Given the description of an element on the screen output the (x, y) to click on. 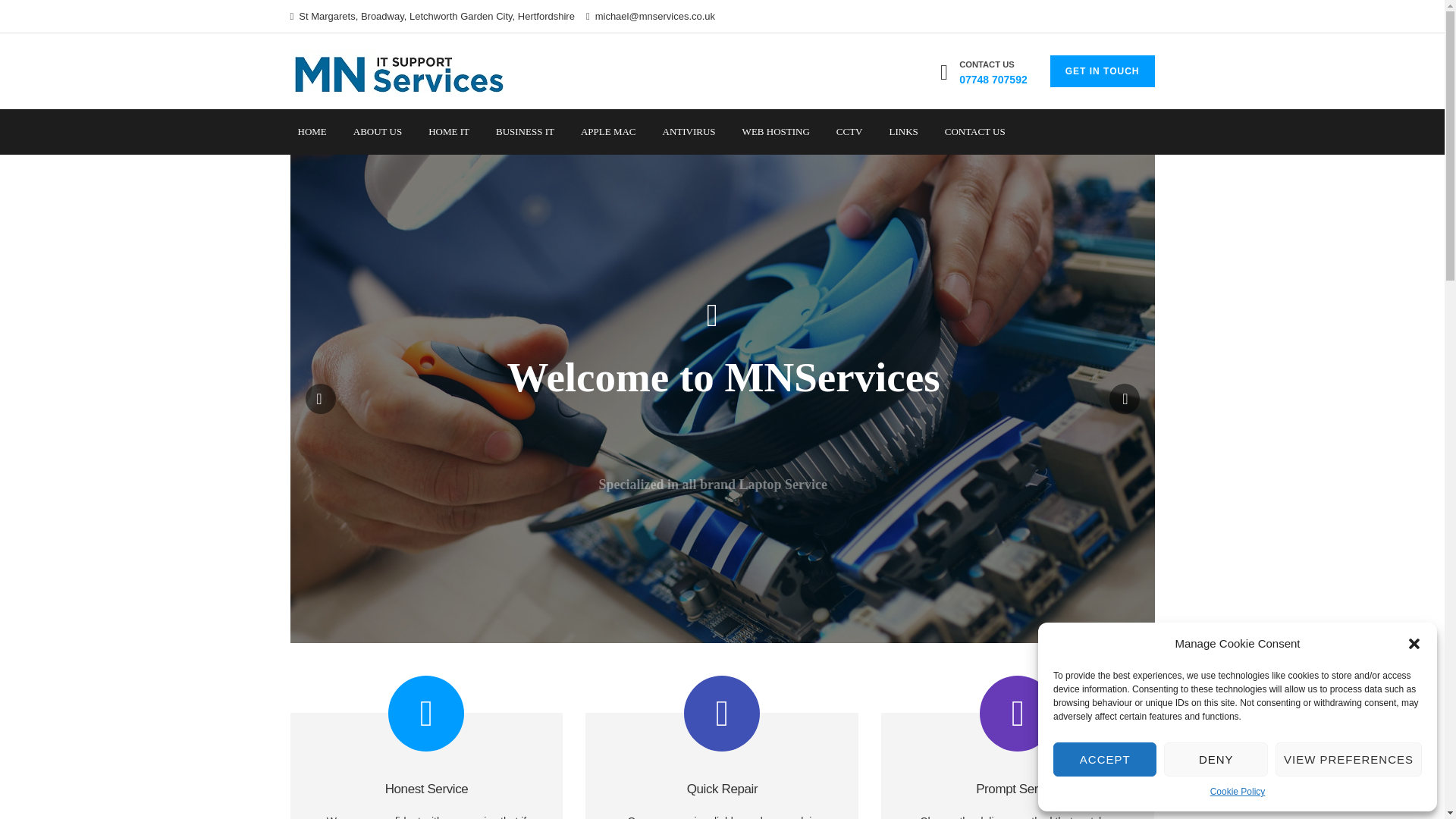
WEB HOSTING (775, 131)
CONTACT US (975, 131)
HOME (311, 131)
ACCEPT (1104, 759)
DENY (1214, 759)
BUSINESS IT (524, 131)
APPLE MAC (608, 131)
ANTIVIRUS (689, 131)
CCTV (849, 131)
GET IN TOUCH (1101, 70)
